Given the description of an element on the screen output the (x, y) to click on. 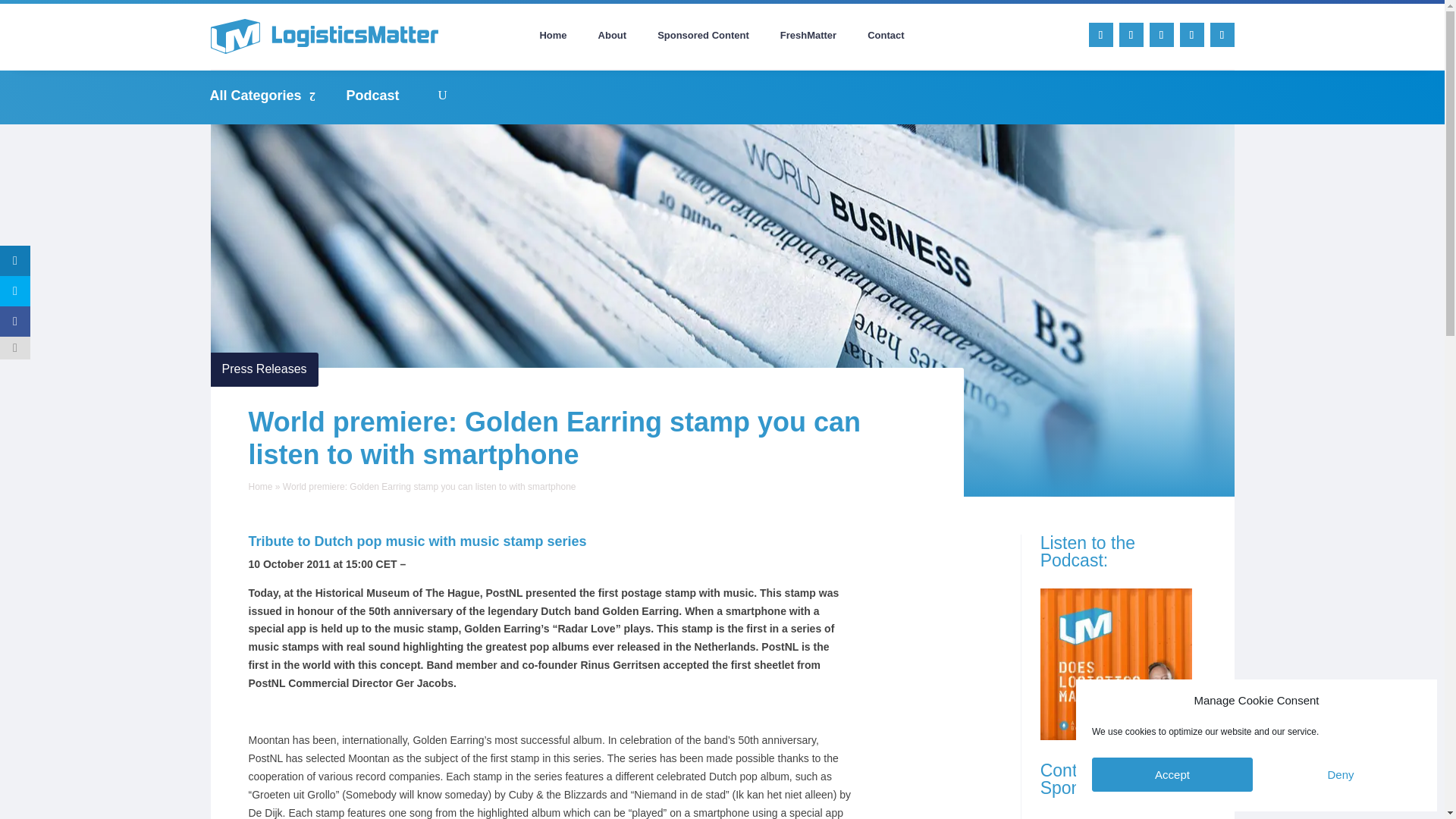
Sponsored Content (703, 38)
Follow on Facebook (1161, 34)
Accept (1172, 774)
Follow on X (1130, 34)
Logisticsmatter-logo (324, 36)
All Categories (269, 95)
About (612, 38)
Follow on RSS (1221, 34)
FreshMatter (808, 38)
Follow on Pinterest (1191, 34)
